Given the description of an element on the screen output the (x, y) to click on. 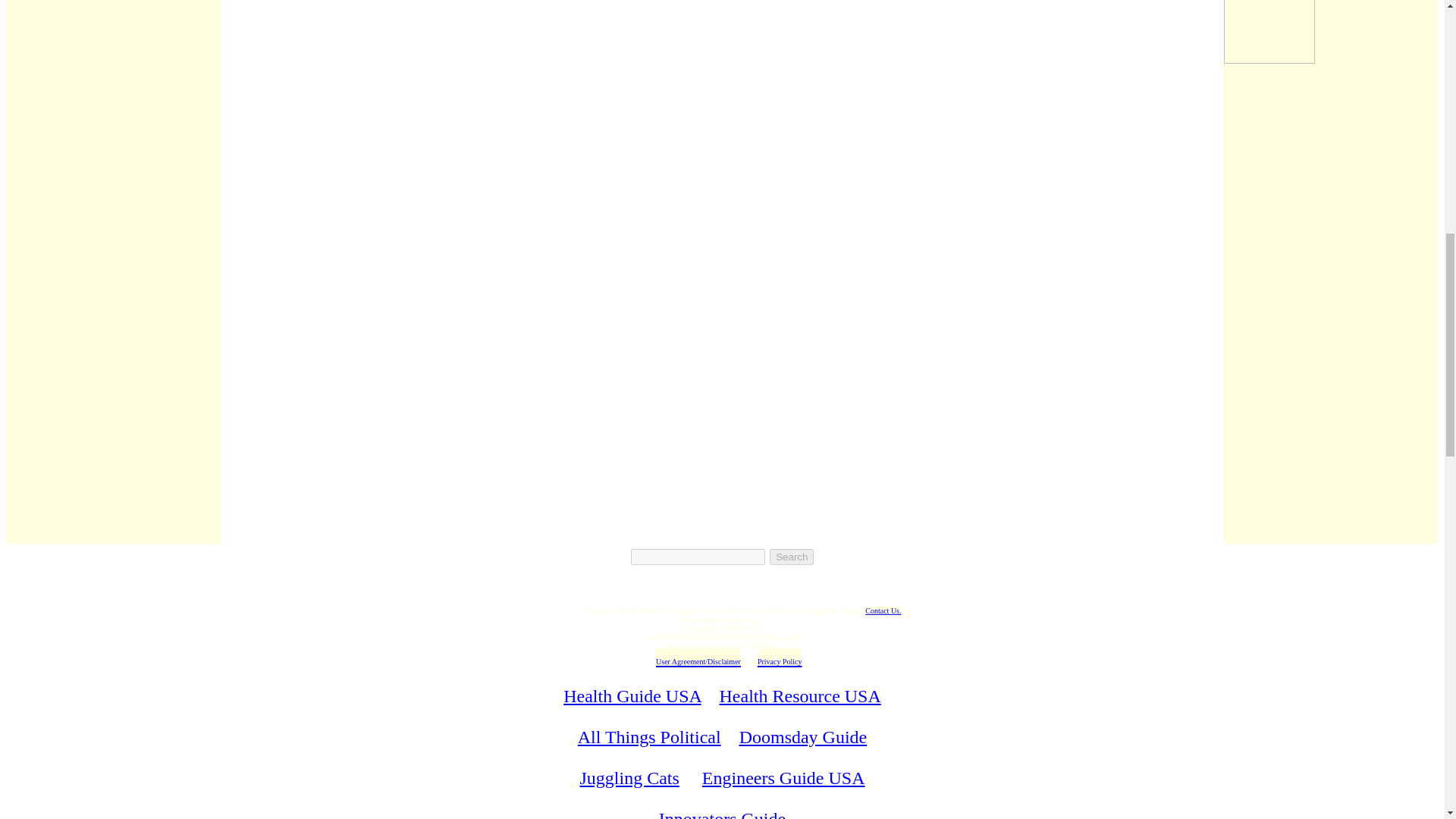
Privacy Policy (779, 658)
Search (791, 556)
Contact Us. (882, 610)
Innovators Guide (722, 814)
Juggling Cats (628, 777)
Health Resource USA (799, 695)
Search (791, 556)
Health Guide USA (631, 695)
All Things Political (649, 736)
Doomsday Guide (803, 736)
